Given the description of an element on the screen output the (x, y) to click on. 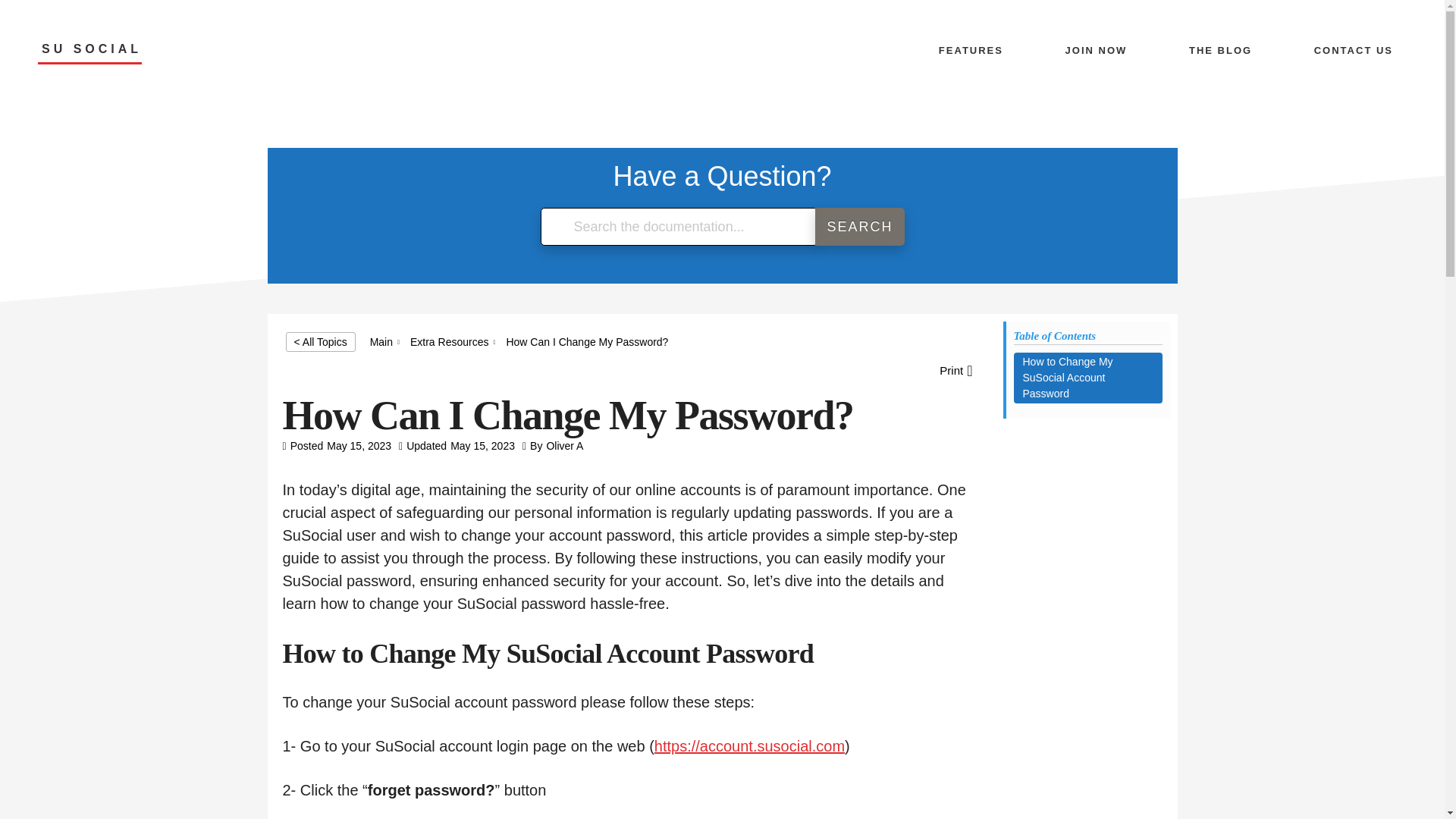
How to Change My SuSocial Account Password (1087, 377)
SU SOCIAL (89, 52)
Main (381, 341)
JOIN NOW (1096, 50)
THE BLOG (1219, 50)
FEATURES (970, 50)
SEARCH (859, 226)
CONTACT US (1353, 50)
Extra Resources (448, 341)
